Given the description of an element on the screen output the (x, y) to click on. 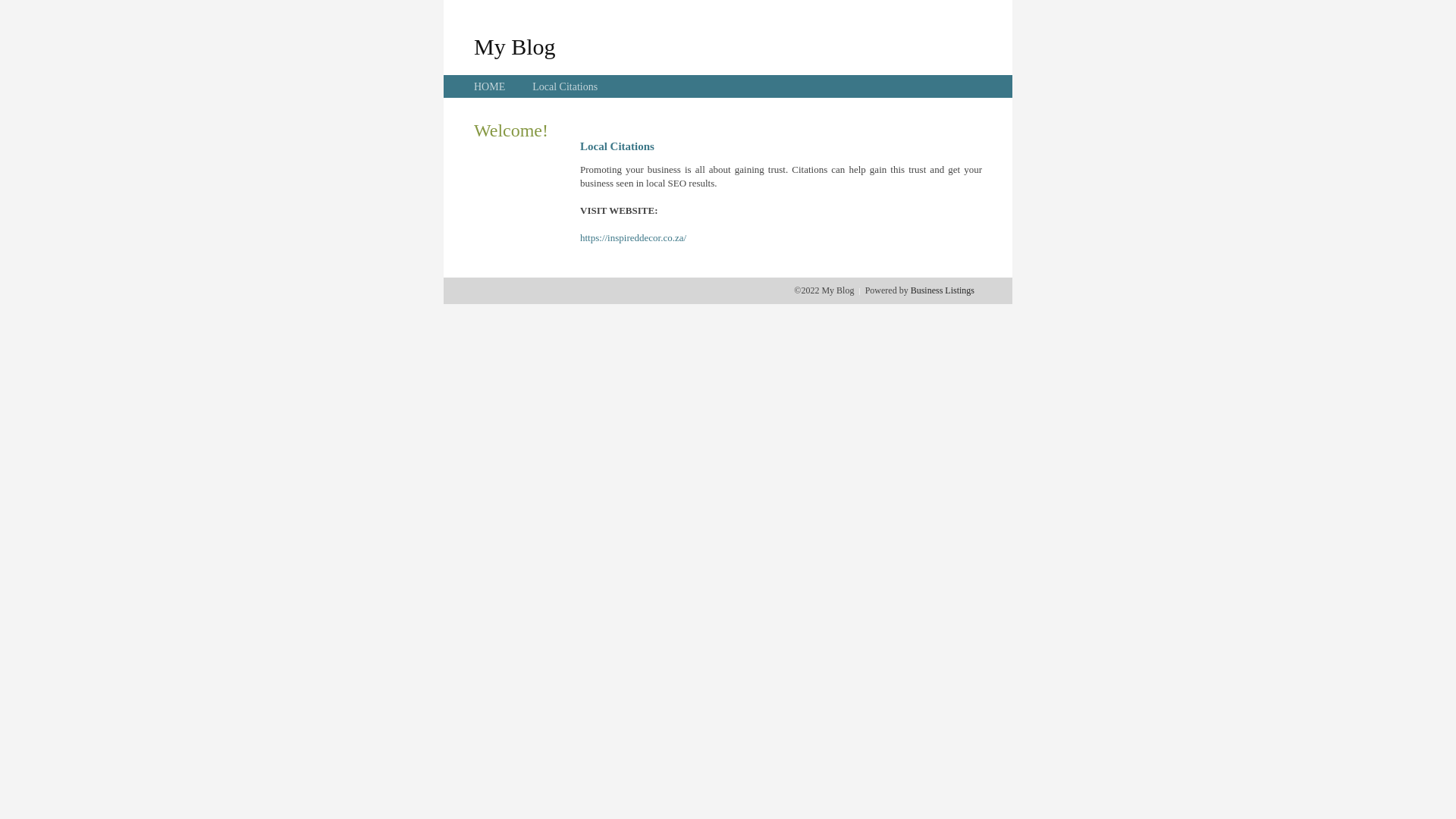
Business Listings Element type: text (942, 290)
HOME Element type: text (489, 86)
https://inspireddecor.co.za/ Element type: text (633, 237)
Local Citations Element type: text (564, 86)
My Blog Element type: text (514, 46)
